Given the description of an element on the screen output the (x, y) to click on. 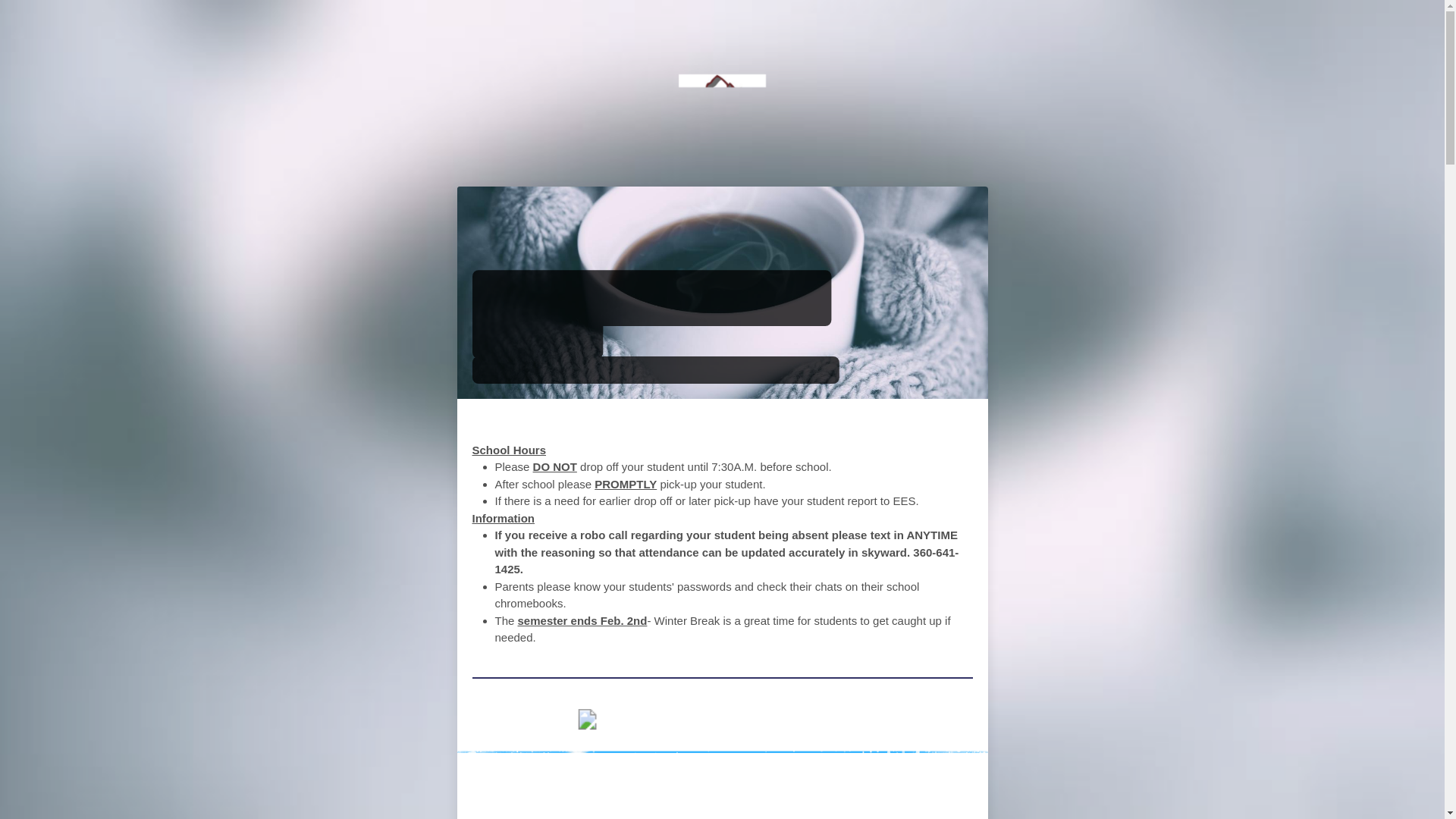
This (780, 722)
REMINDERS (763, 424)
Our (626, 722)
Week (836, 722)
FRIENDLY (672, 424)
Schedule (702, 722)
